Given the description of an element on the screen output the (x, y) to click on. 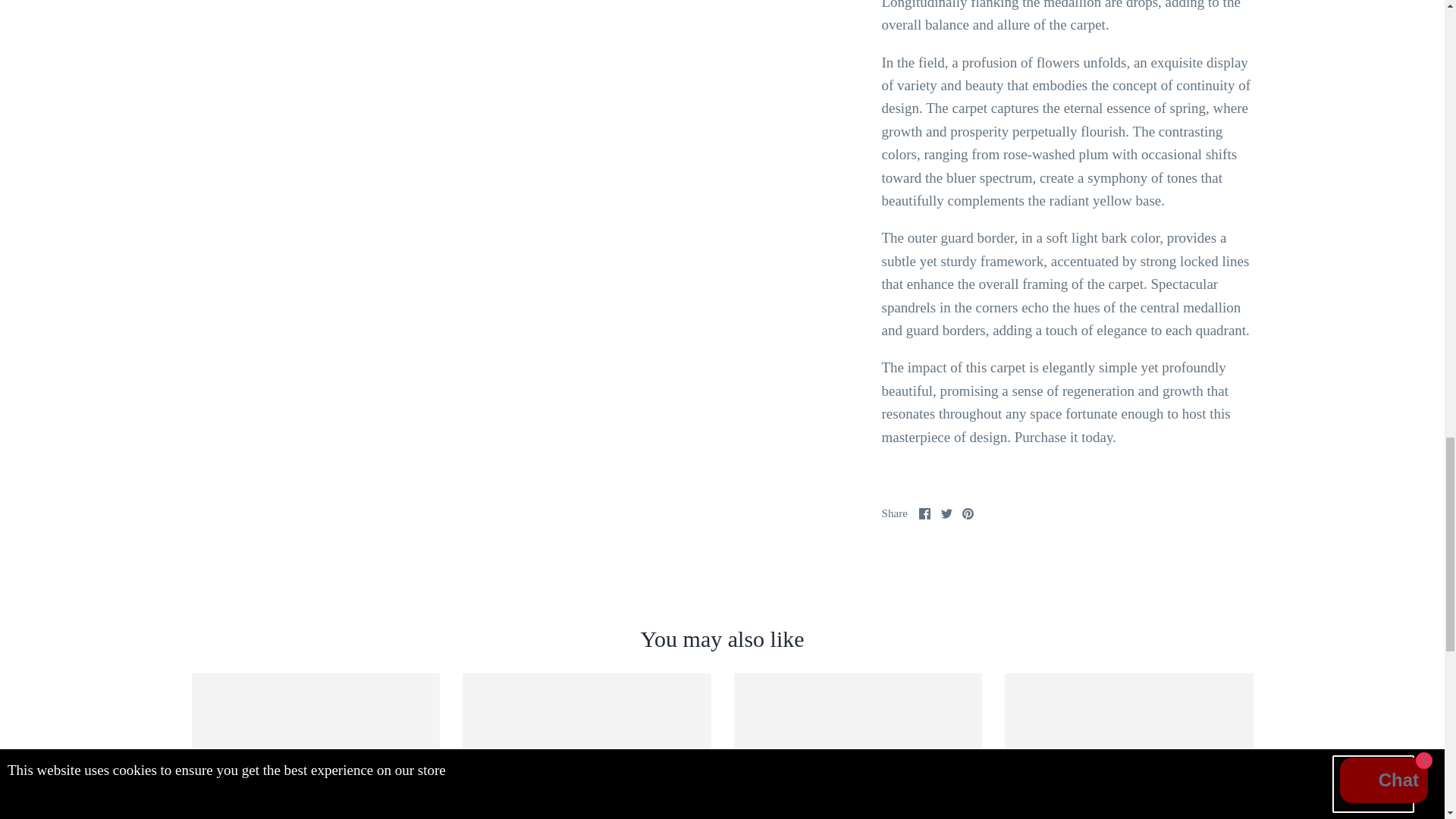
Pinterest (968, 513)
Twitter (946, 513)
Facebook (924, 513)
